Given the description of an element on the screen output the (x, y) to click on. 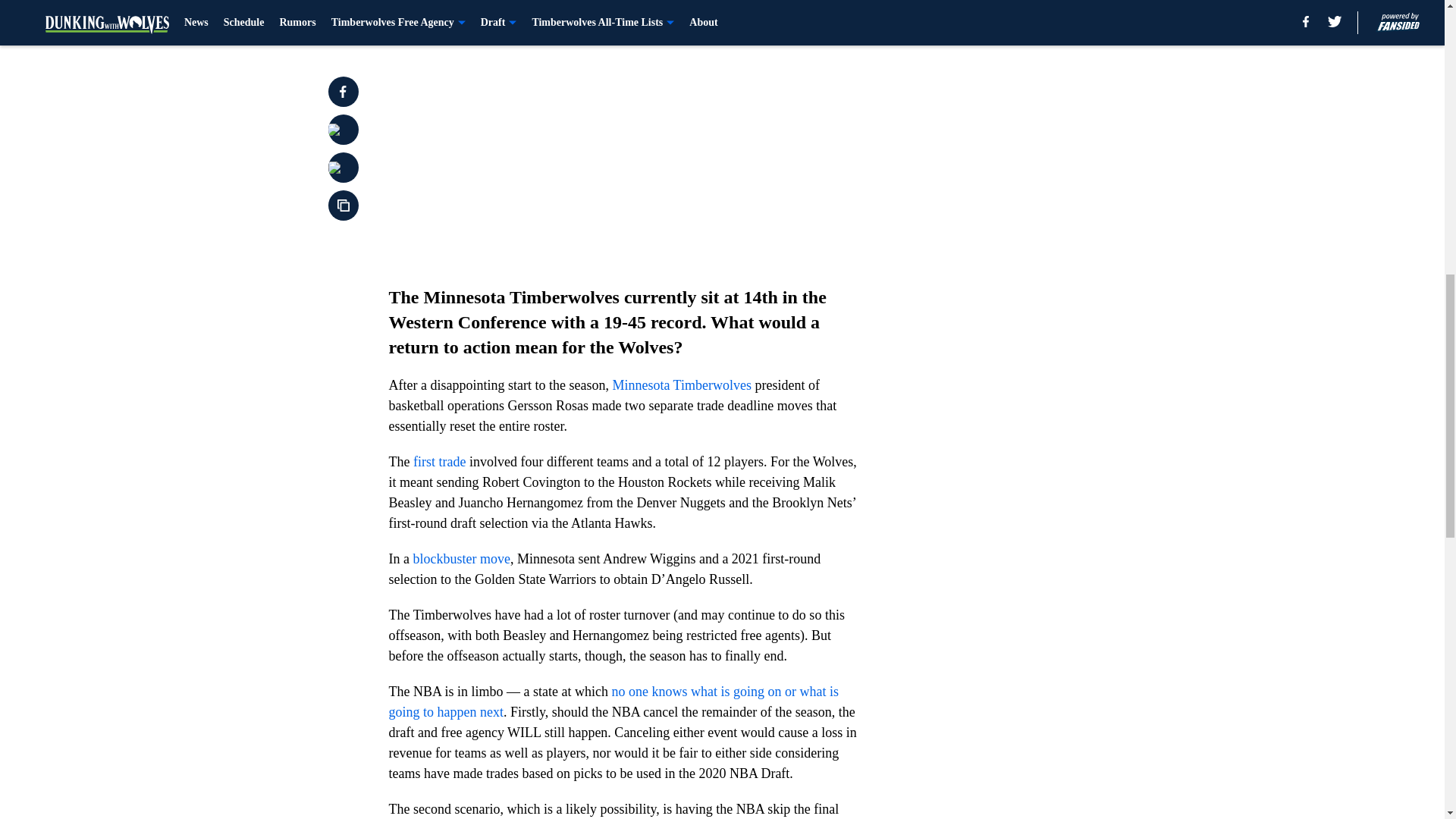
blockbuster move (460, 558)
first trade (439, 461)
Minnesota Timberwolves (681, 385)
